Given the description of an element on the screen output the (x, y) to click on. 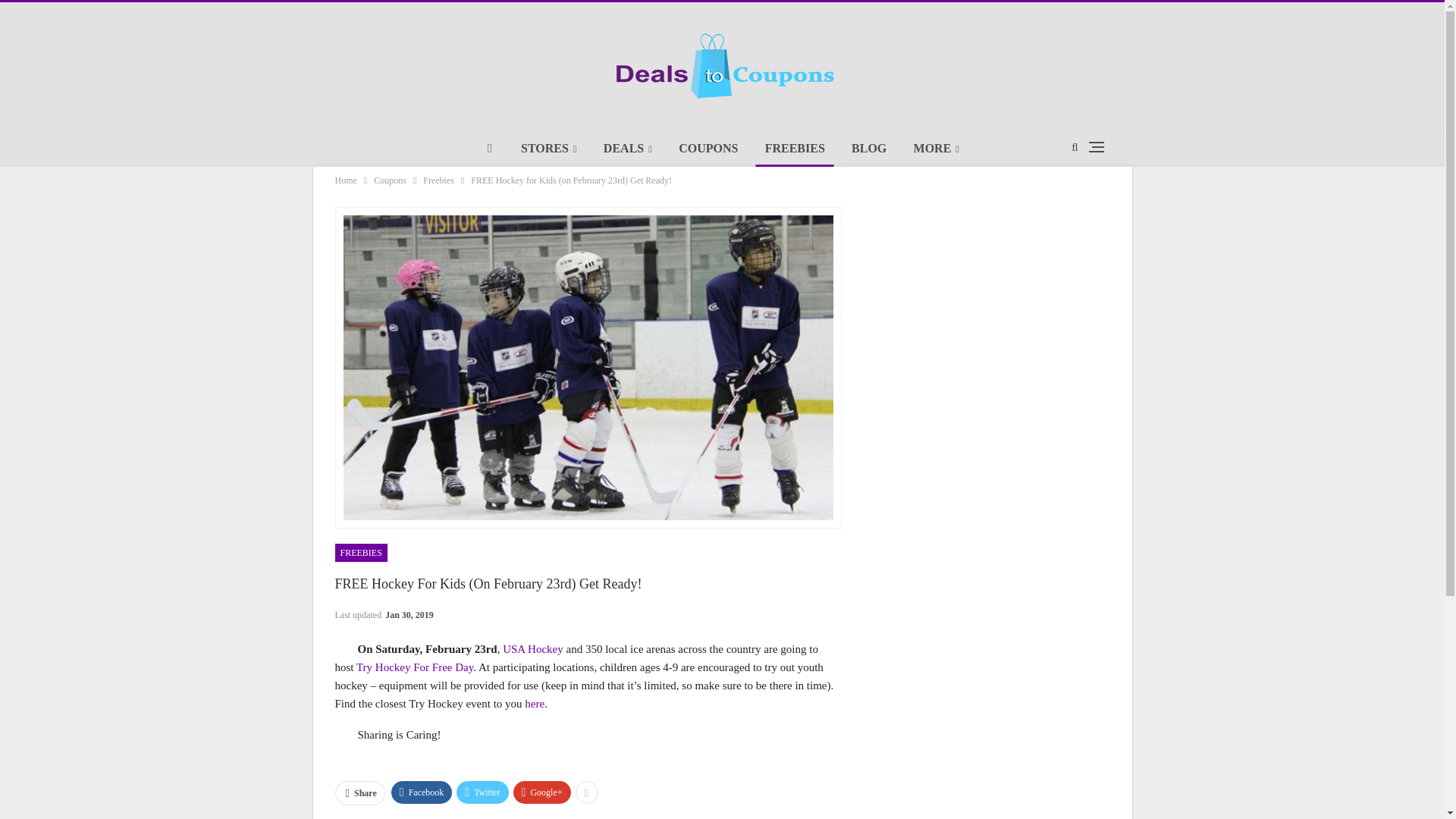
DEALS (627, 148)
STORES (549, 148)
